Given the description of an element on the screen output the (x, y) to click on. 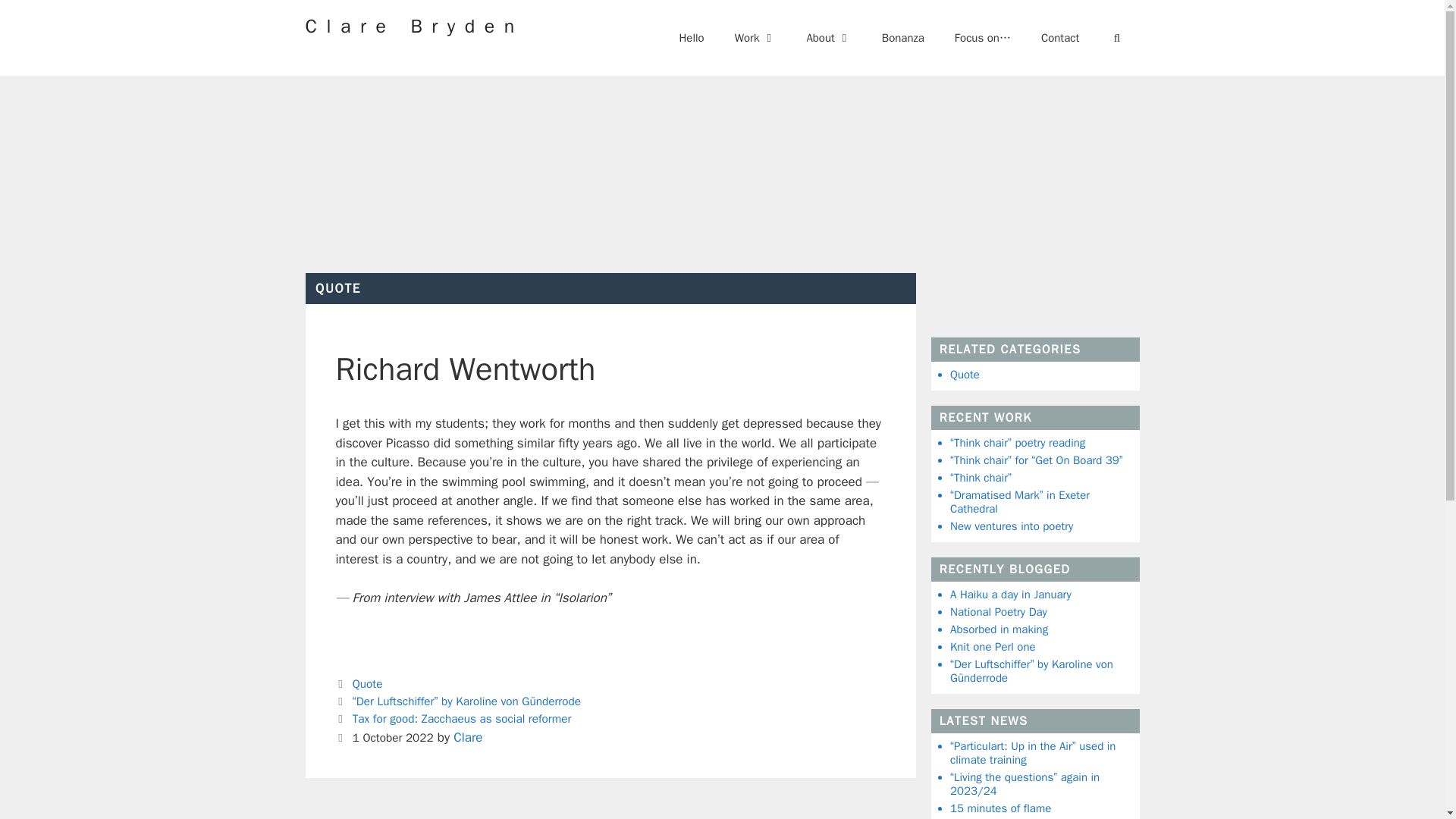
View all posts by Clare (466, 737)
Work (755, 37)
About (828, 37)
National Poetry Day (998, 612)
QUOTE (338, 288)
New ventures into poetry (1011, 525)
Hello (691, 37)
Bonanza (902, 37)
Clare (466, 737)
Clare Bryden (413, 25)
